Given the description of an element on the screen output the (x, y) to click on. 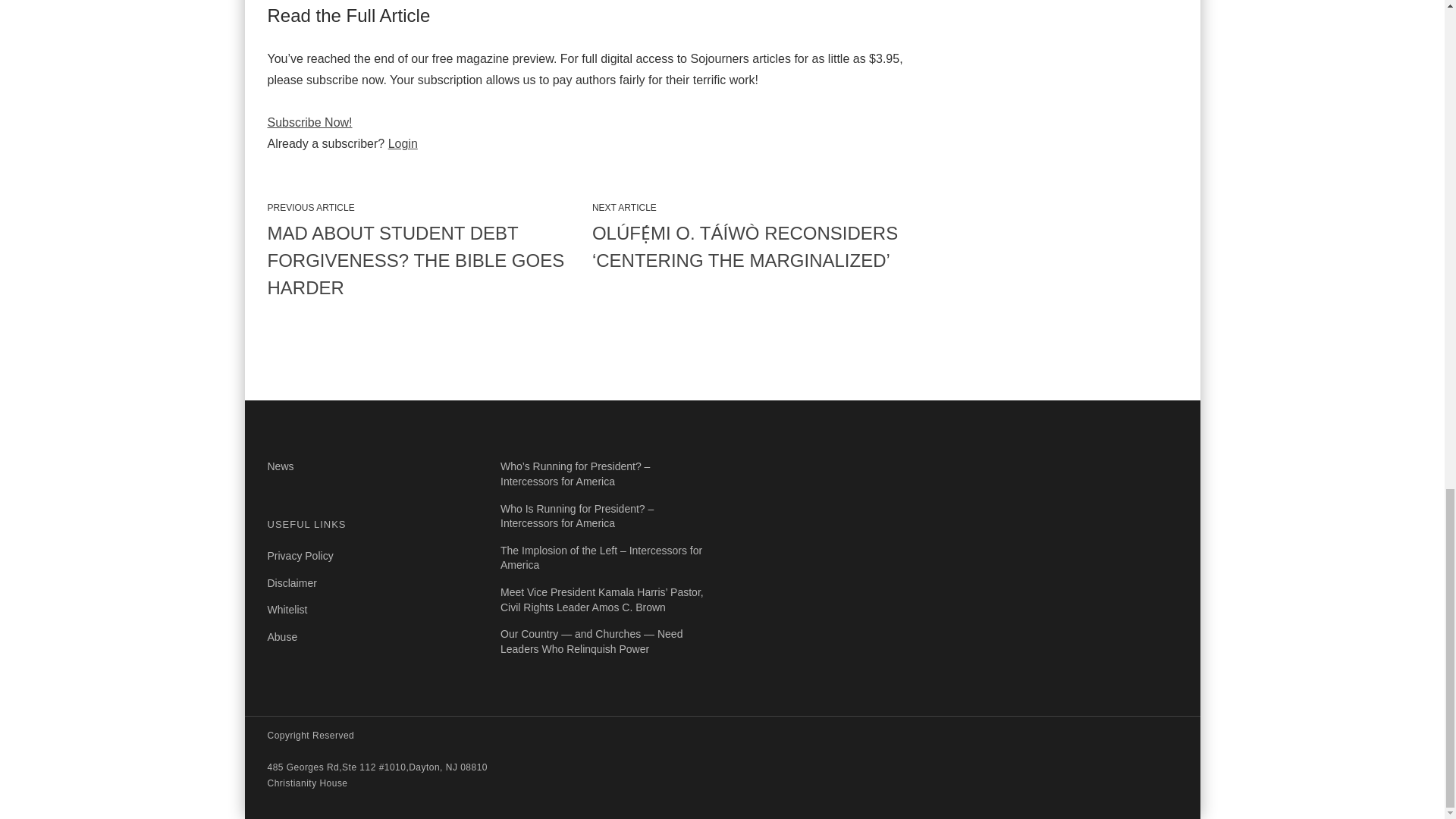
Subscribe Now! (309, 122)
Login (402, 143)
Subscribe Now! (309, 122)
MAD ABOUT STUDENT DEBT FORGIVENESS? THE BIBLE GOES HARDER (422, 261)
